Given the description of an element on the screen output the (x, y) to click on. 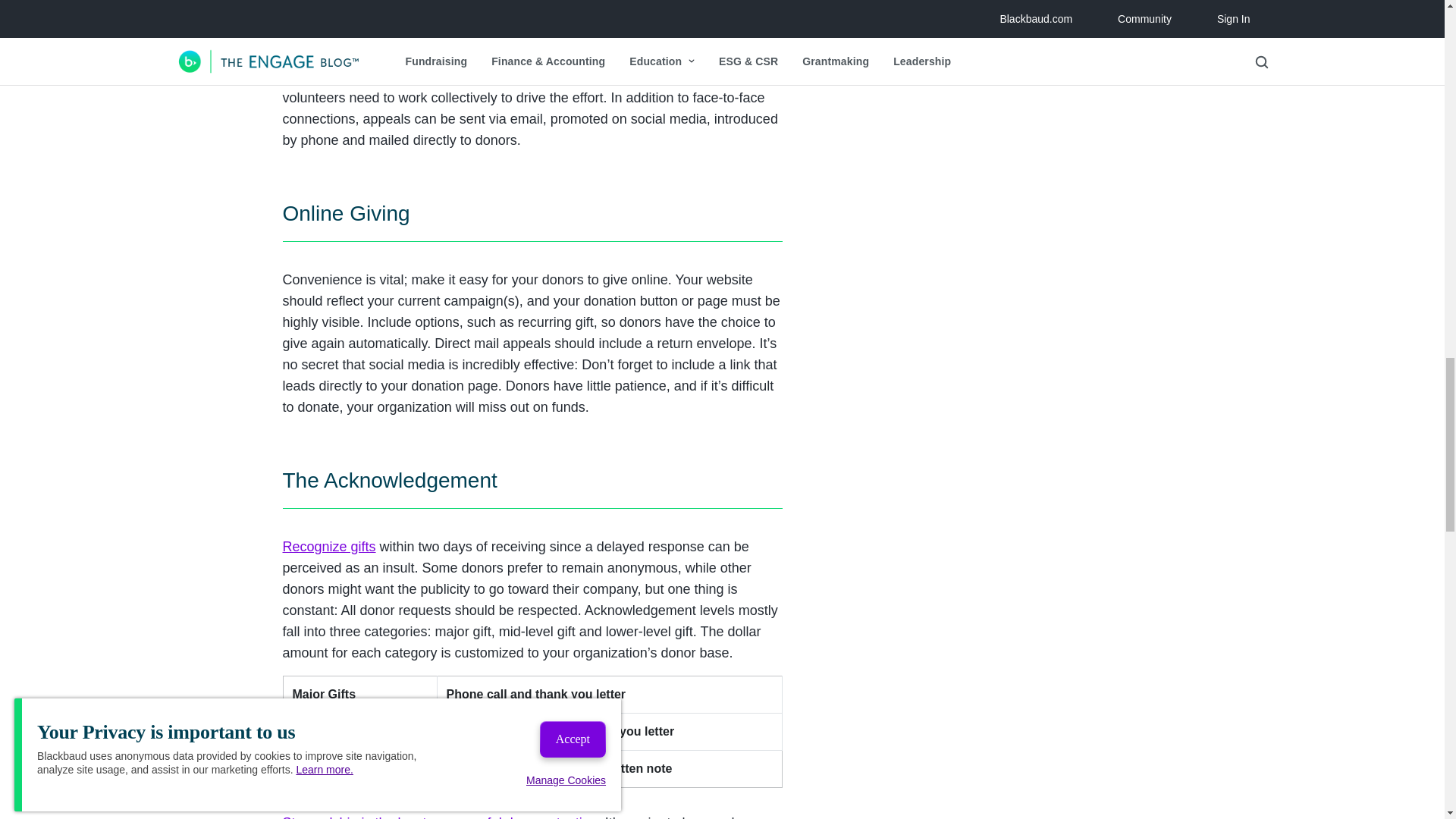
Stewardship is the key to successful donor retention (439, 816)
Recognize gifts (328, 546)
